Given the description of an element on the screen output the (x, y) to click on. 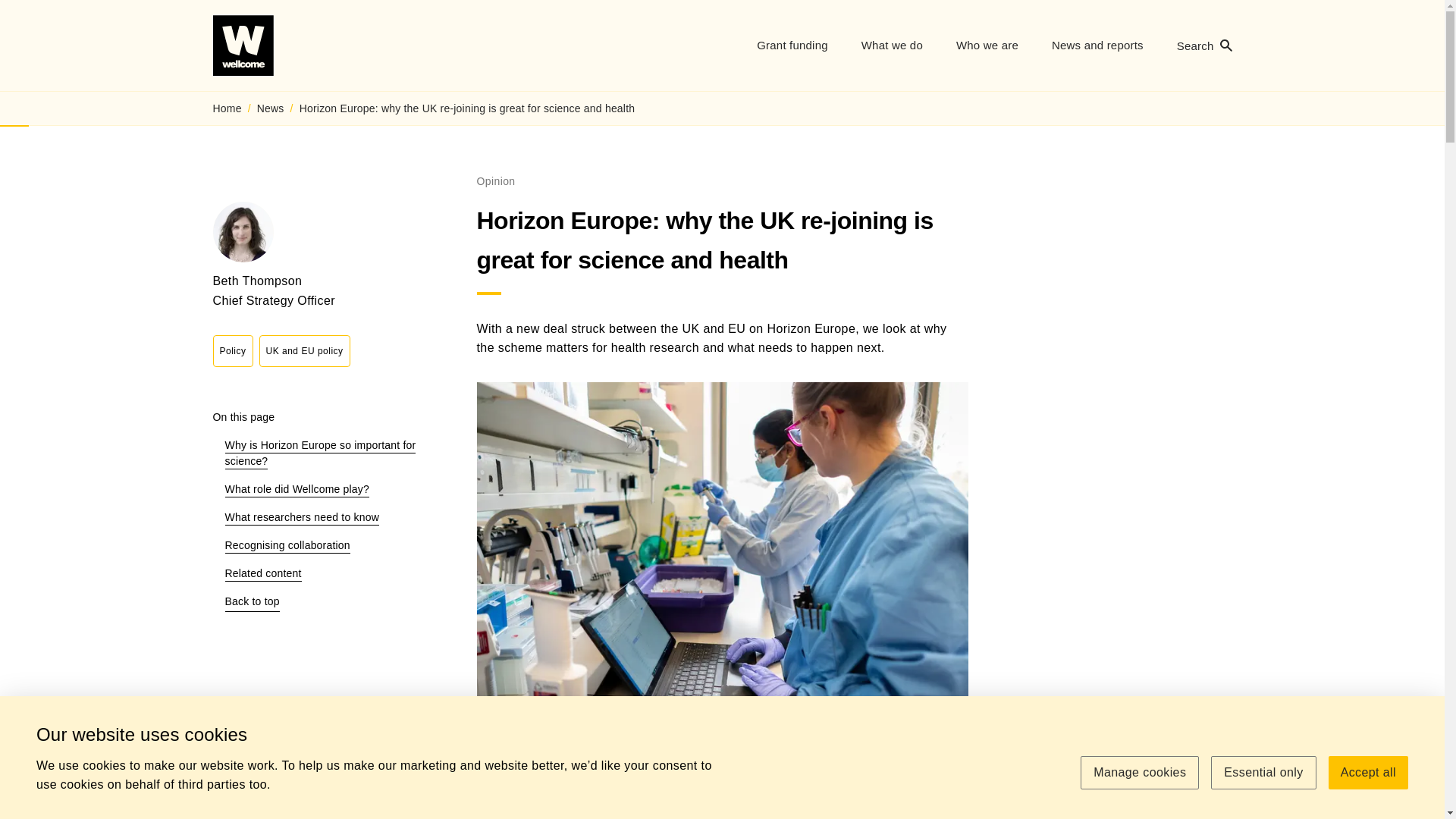
Who we are (1263, 772)
Search (987, 45)
News and reports (1204, 45)
Skip to main content (1367, 772)
Grant funding (1097, 45)
What we do (791, 45)
